Given the description of an element on the screen output the (x, y) to click on. 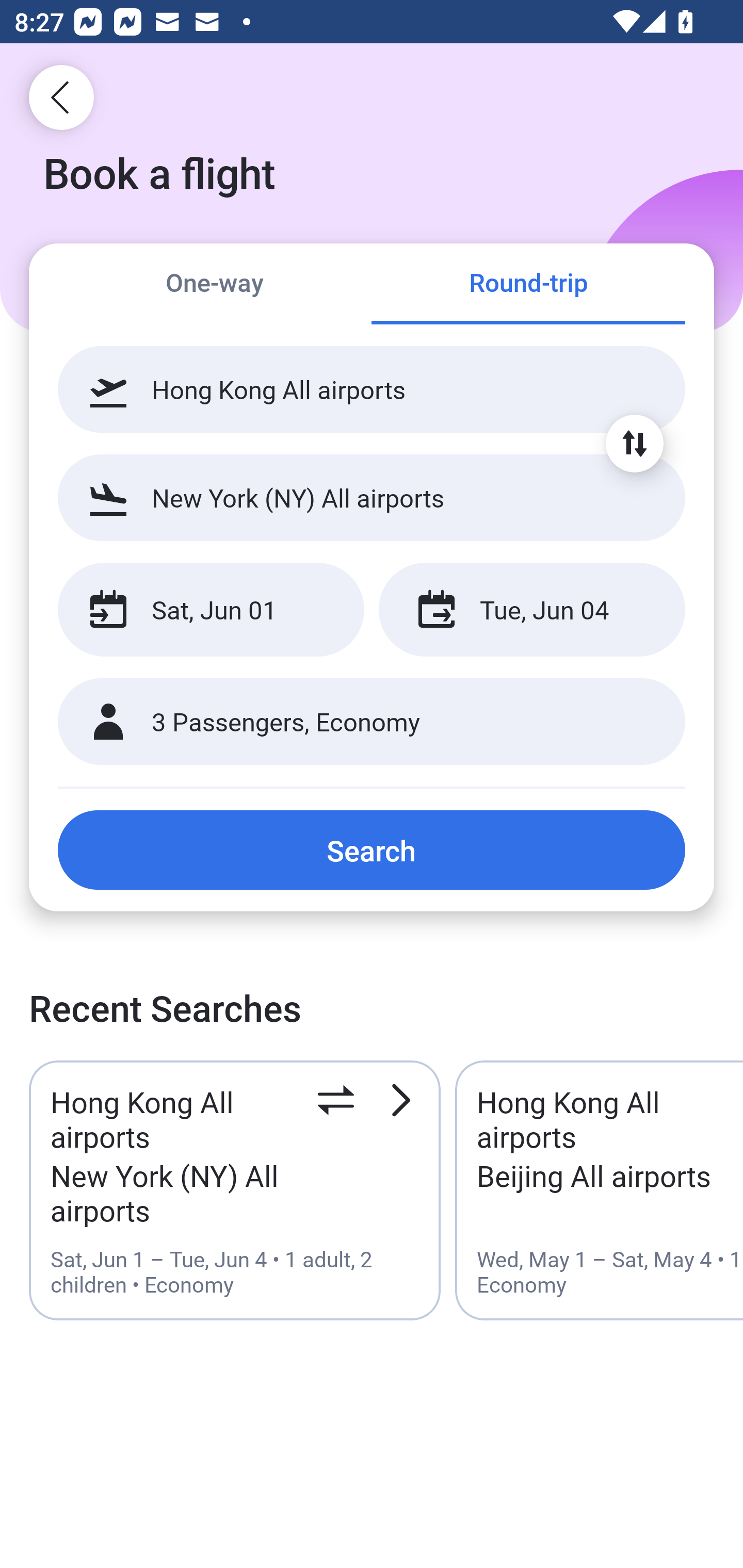
One-way (214, 284)
Hong Kong All airports (371, 389)
New York (NY) All airports (371, 497)
Sat, Jun 01 (210, 609)
Tue, Jun 04 (531, 609)
3 Passengers, Economy (371, 721)
Search (371, 849)
